Given the description of an element on the screen output the (x, y) to click on. 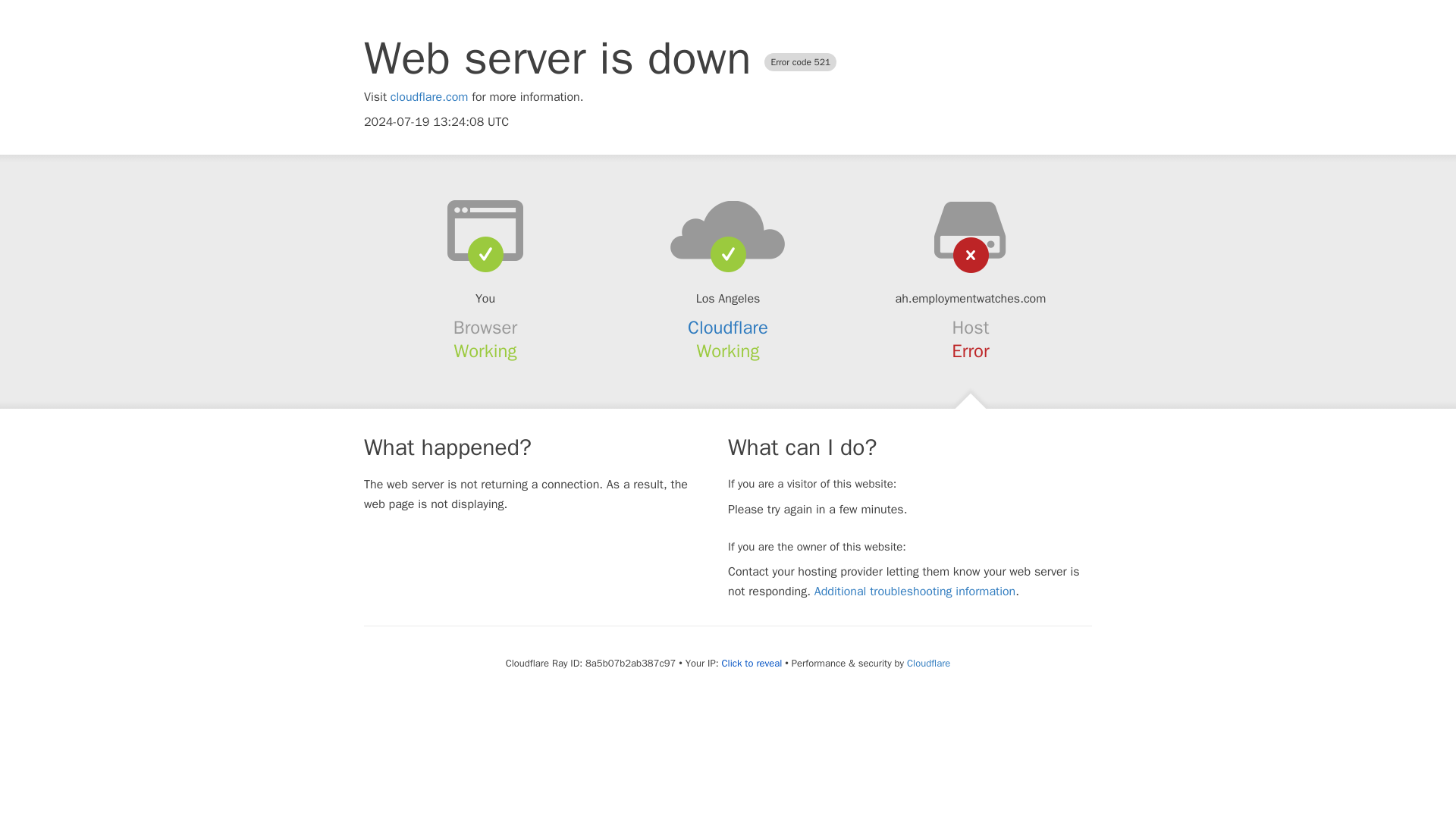
Cloudflare (928, 662)
Additional troubleshooting information (913, 590)
cloudflare.com (429, 96)
Click to reveal (750, 663)
Cloudflare (727, 327)
